Given the description of an element on the screen output the (x, y) to click on. 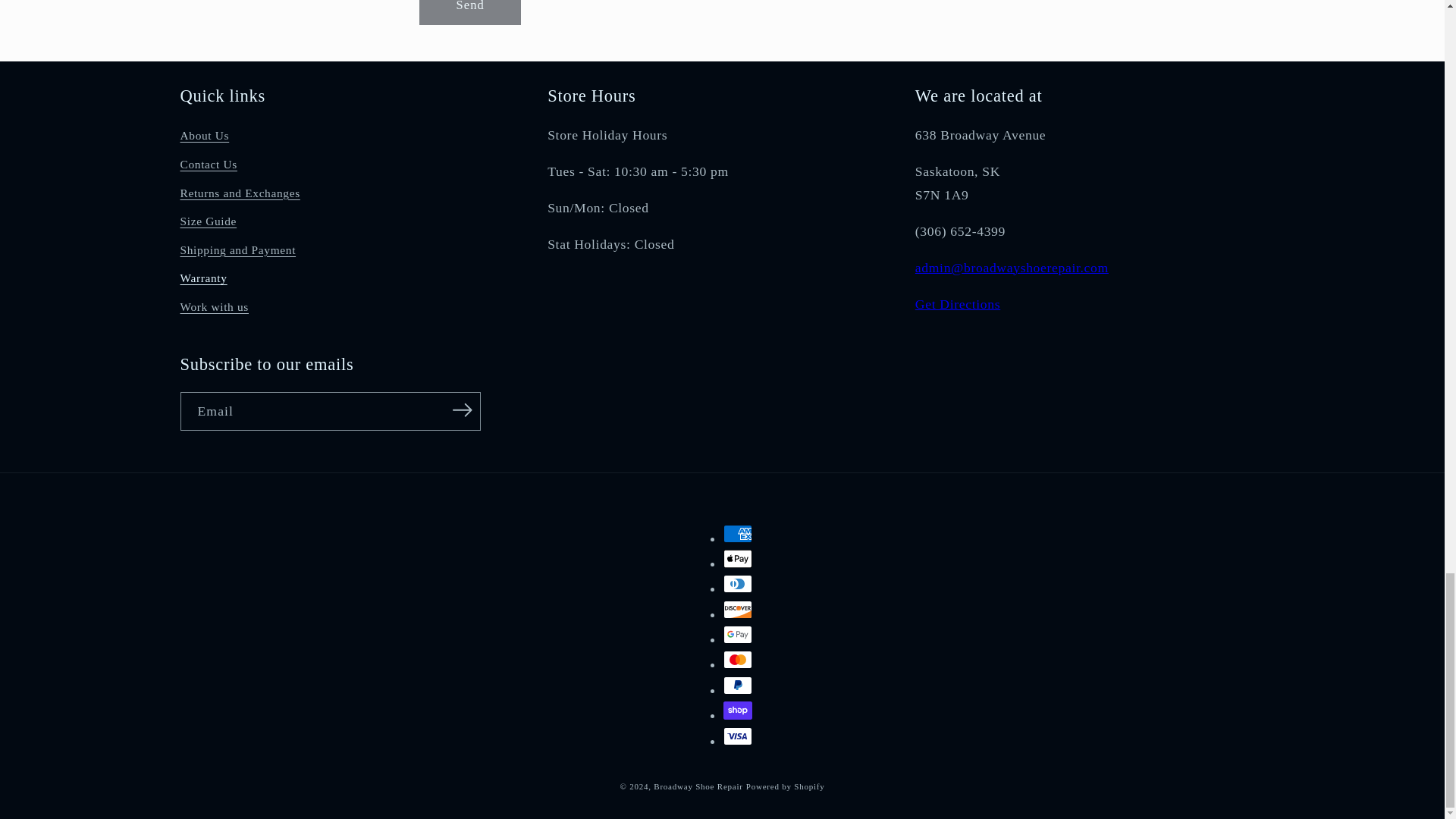
Shop Pay (737, 710)
Apple Pay (737, 558)
Google Pay (737, 634)
Visa (737, 736)
PayPal (737, 685)
Discover (737, 609)
Diners Club (737, 583)
American Express (737, 533)
Mastercard (737, 659)
